Given the description of an element on the screen output the (x, y) to click on. 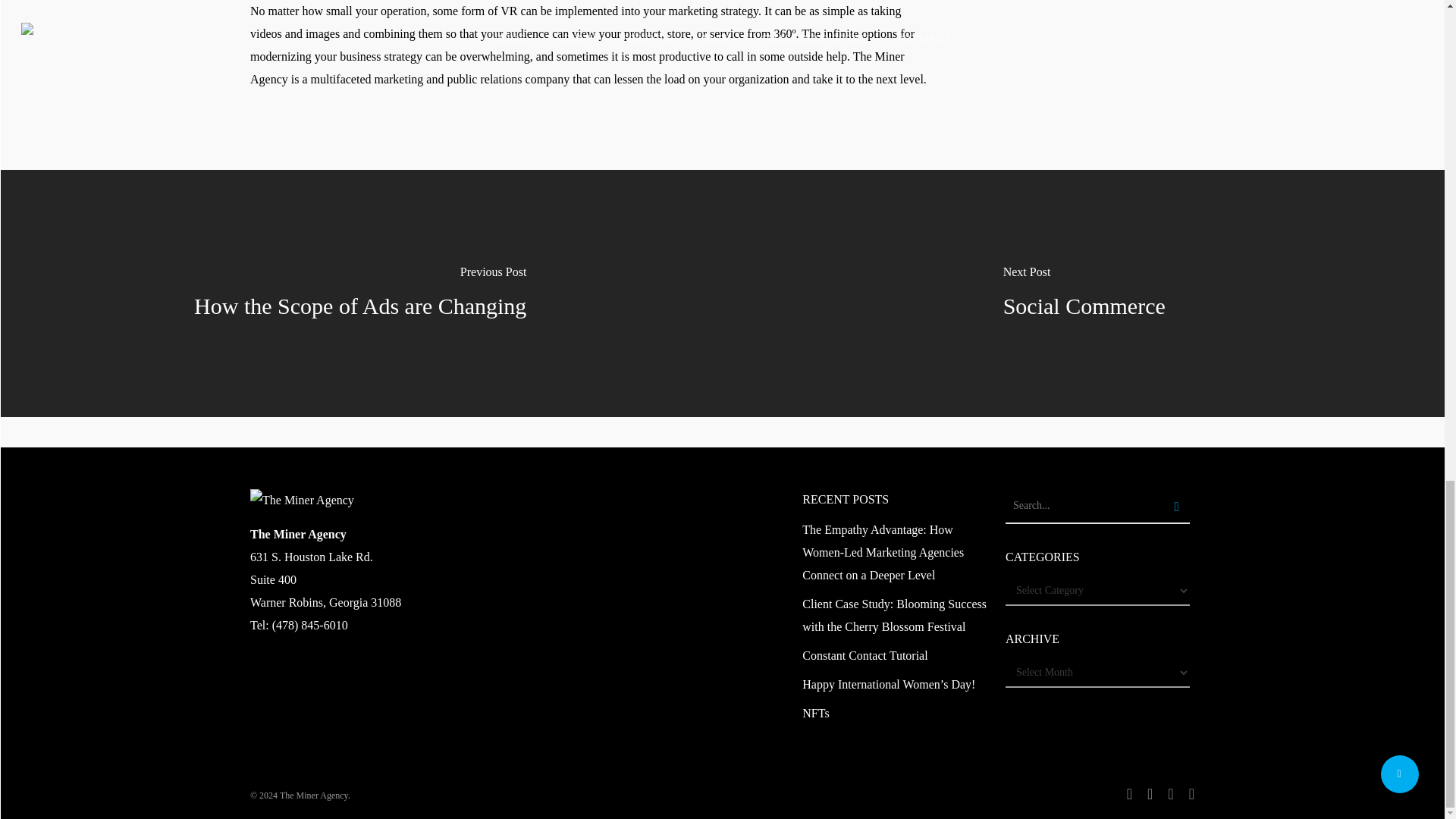
Constant Contact Tutorial (894, 655)
Search for: (1097, 506)
